Given the description of an element on the screen output the (x, y) to click on. 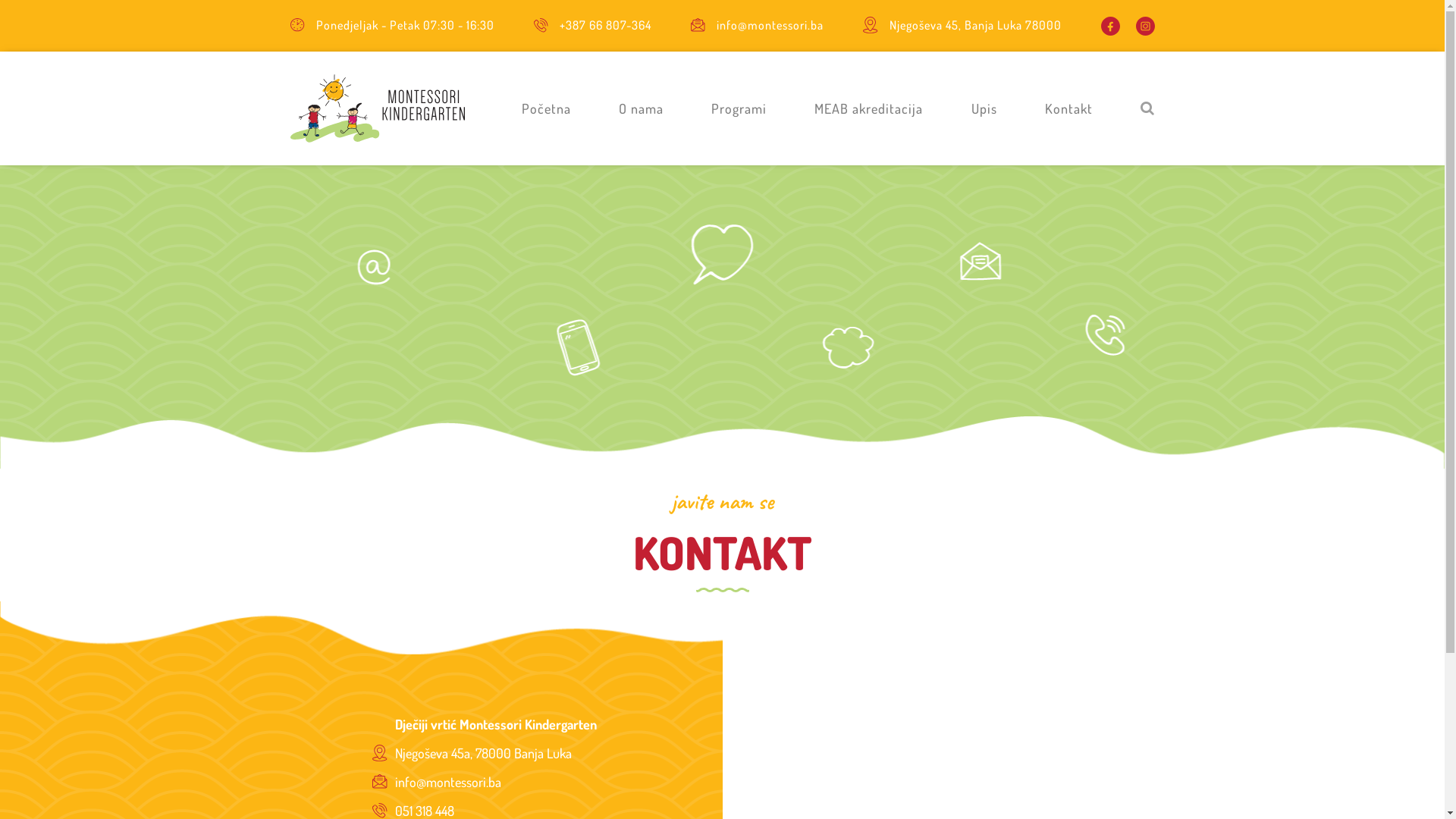
O nama Element type: text (640, 108)
MEAB akreditacija Element type: text (868, 108)
Programi Element type: text (738, 108)
Upis Element type: text (984, 108)
Kontakt Element type: text (1068, 108)
